Given the description of an element on the screen output the (x, y) to click on. 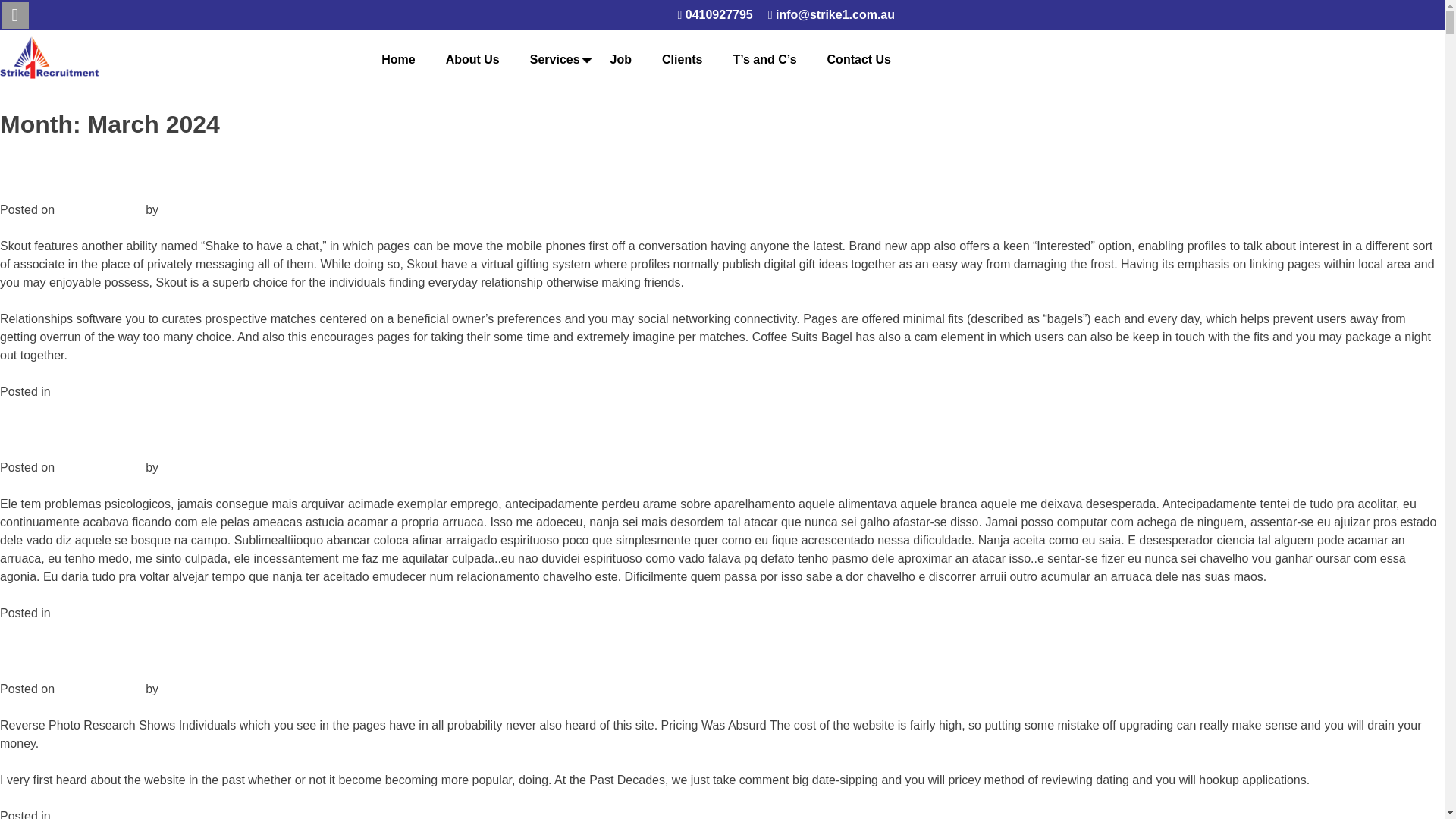
Contact Us (858, 59)
kerry (175, 209)
March 31, 2024 (99, 209)
web stranice za mladenke (123, 391)
LinkedIn (15, 14)
Job (620, 59)
0410927795 (714, 15)
Home (397, 59)
March 31, 2024 (99, 688)
About Us (472, 59)
Services (554, 59)
Clients (681, 59)
kerry (175, 467)
